Given the description of an element on the screen output the (x, y) to click on. 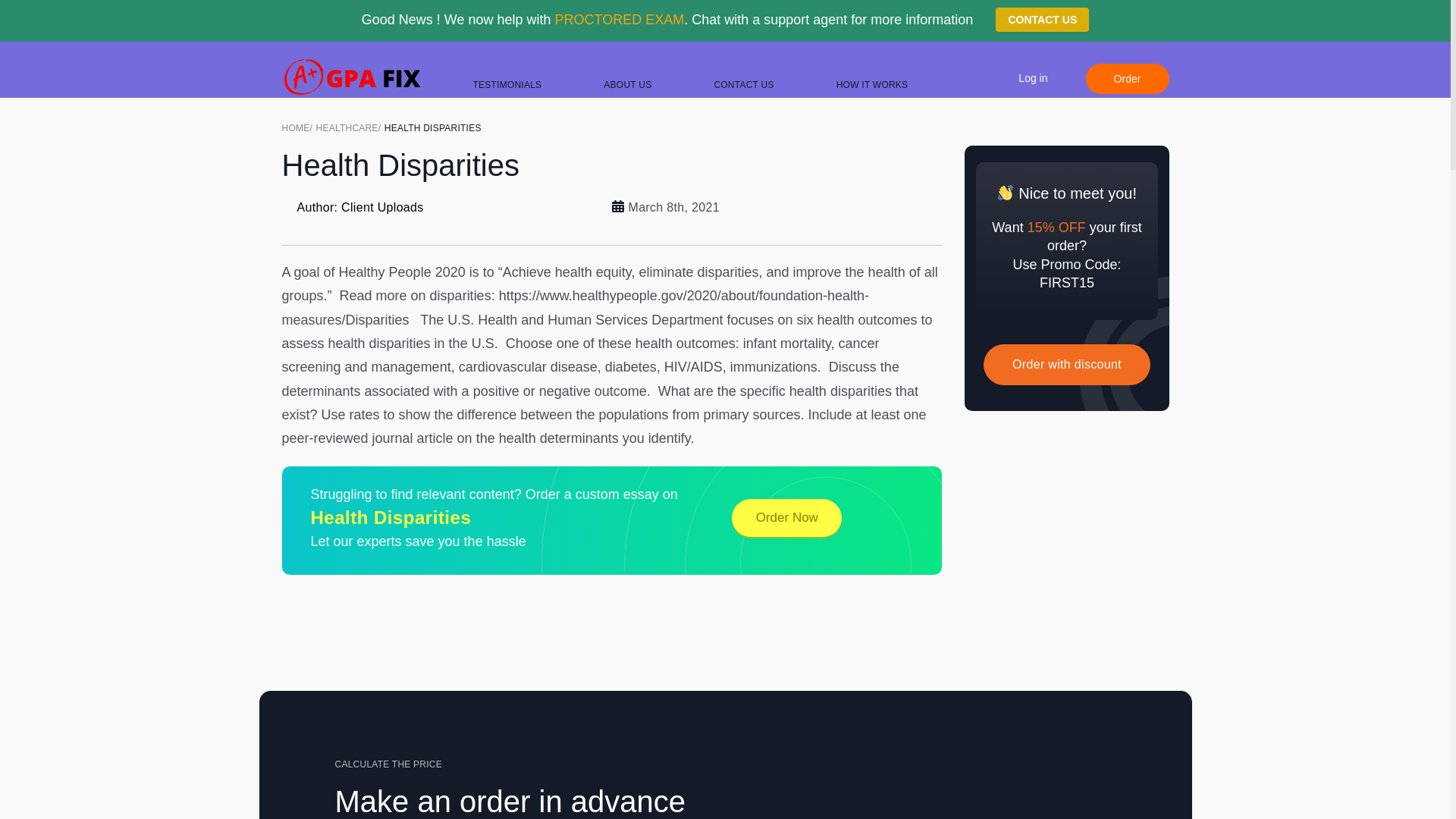
Order (1127, 78)
TESTIMONIALS (506, 83)
HOW IT WORKS (872, 83)
Order Now (786, 517)
ABOUT US (627, 83)
Go to GPA Fix (298, 126)
Order with discount (1066, 363)
Log in (1031, 77)
CONTACT US (1042, 19)
Order Now (1042, 19)
HOME (298, 126)
CONTACT US (743, 83)
